Given the description of an element on the screen output the (x, y) to click on. 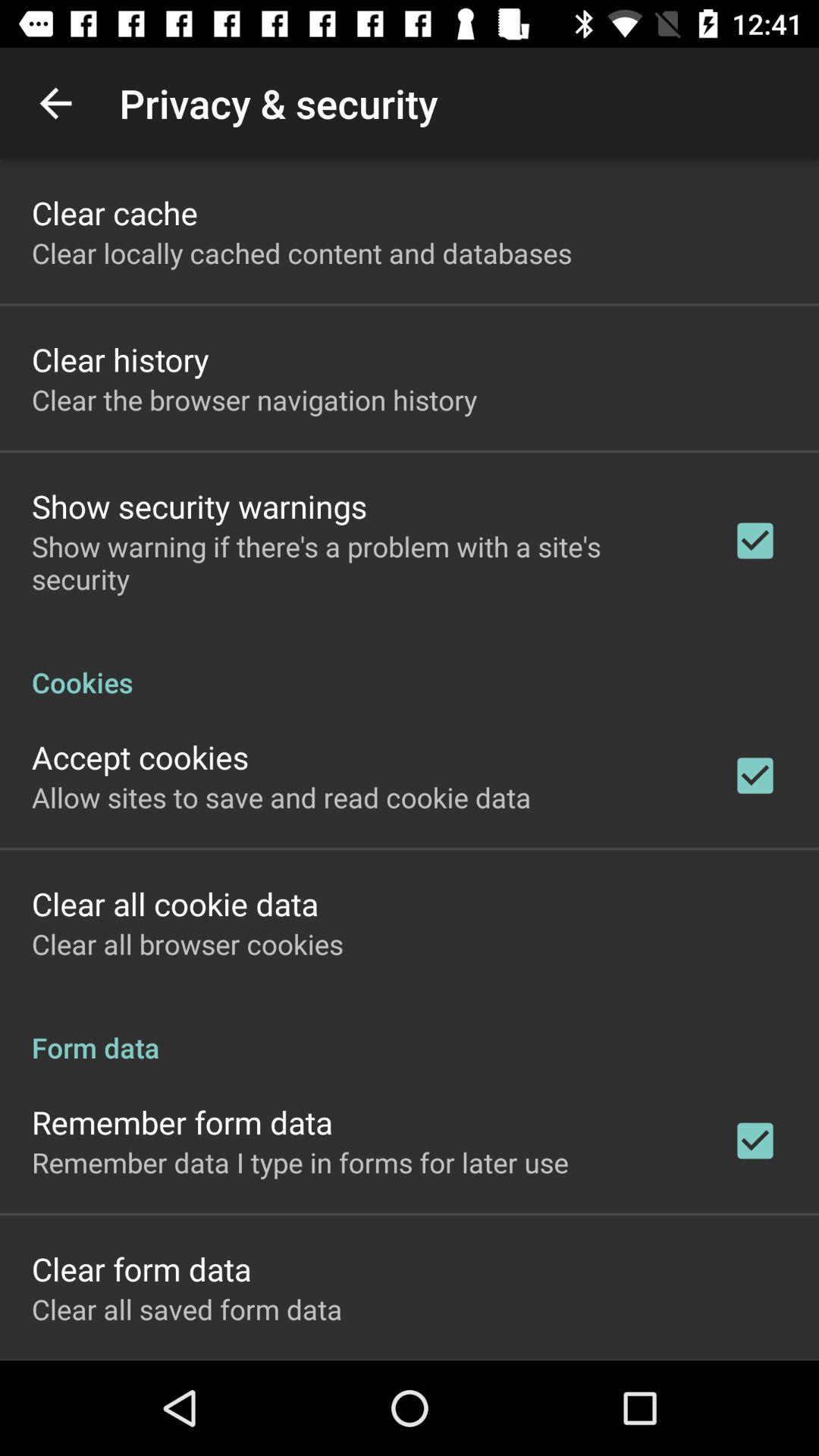
jump until clear locally cached (301, 252)
